Given the description of an element on the screen output the (x, y) to click on. 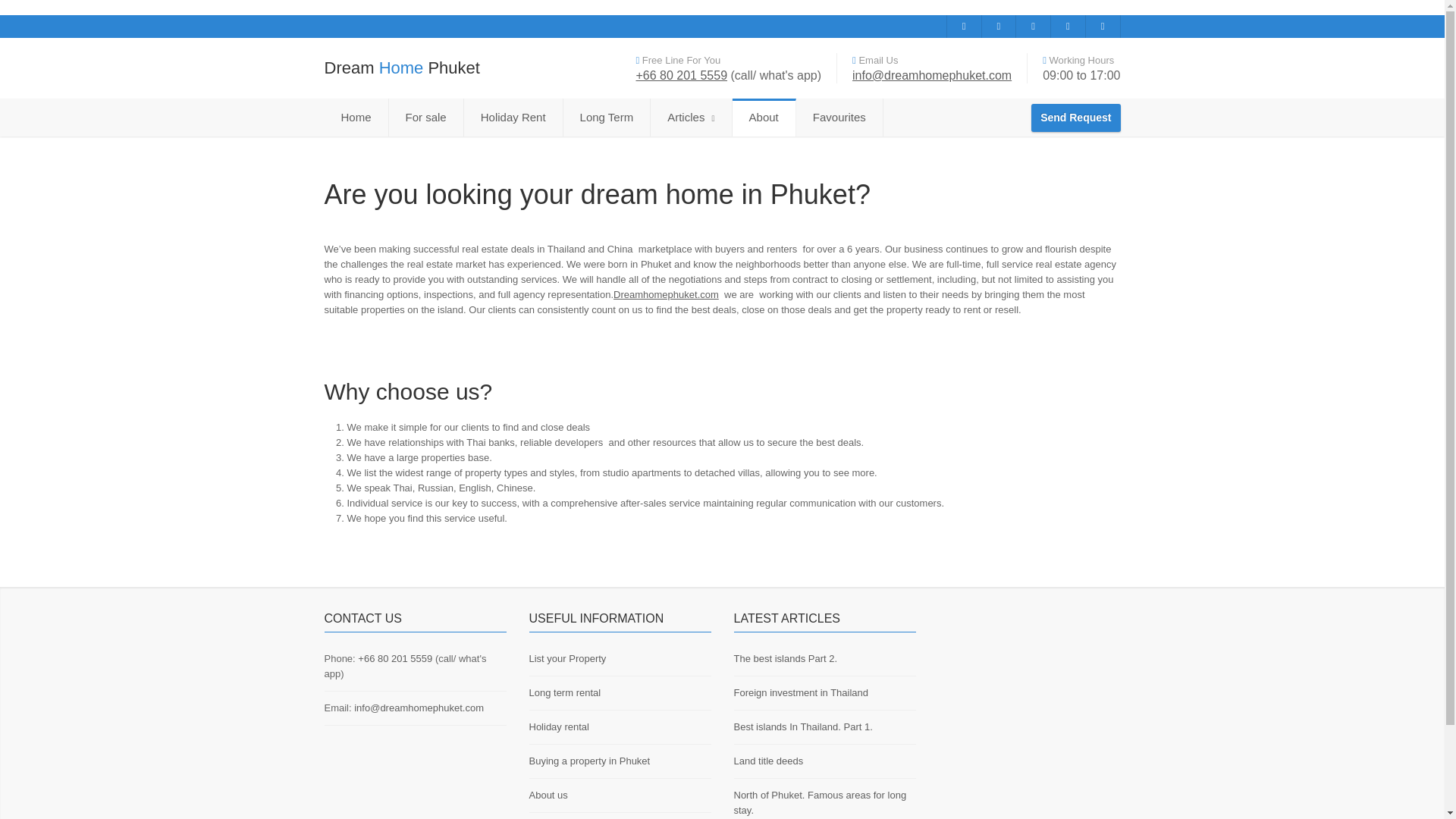
Favourites (839, 117)
Holiday rental (559, 726)
Buying a property in Phuket (589, 760)
Foreign investment in Thailand (801, 692)
Long Term (606, 117)
Best islands In Thailand. Part 1. (802, 726)
Land title deeds (768, 760)
Holiday Rent (513, 117)
List your Property (568, 658)
North of Phuket. Famous areas for long stay. (820, 802)
About us (548, 794)
For sale (426, 117)
Home (356, 117)
Long term rental (565, 692)
Dreamhomephuket.com (665, 294)
